Given the description of an element on the screen output the (x, y) to click on. 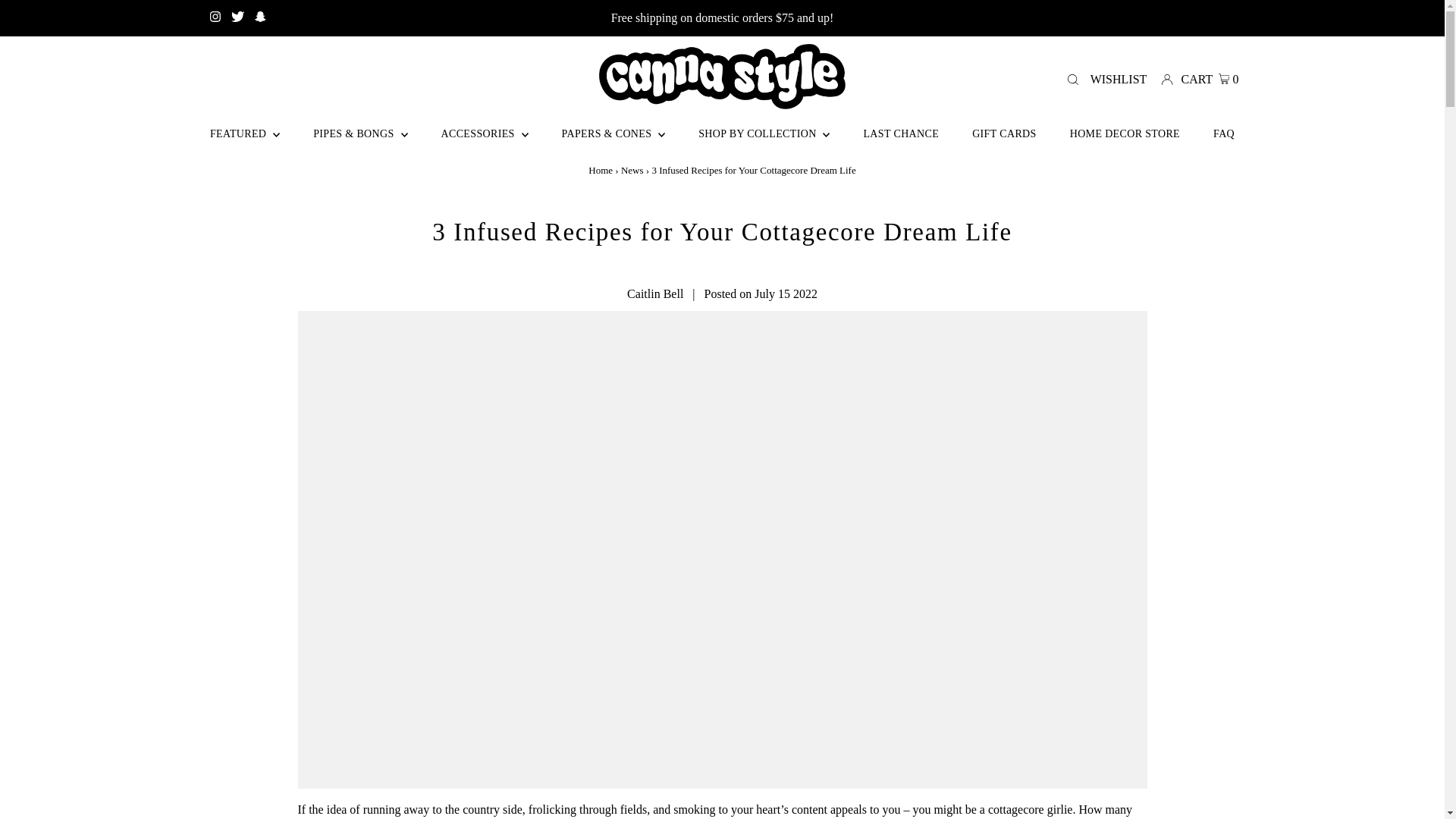
WISHLIST (1120, 78)
Home (600, 170)
